Given the description of an element on the screen output the (x, y) to click on. 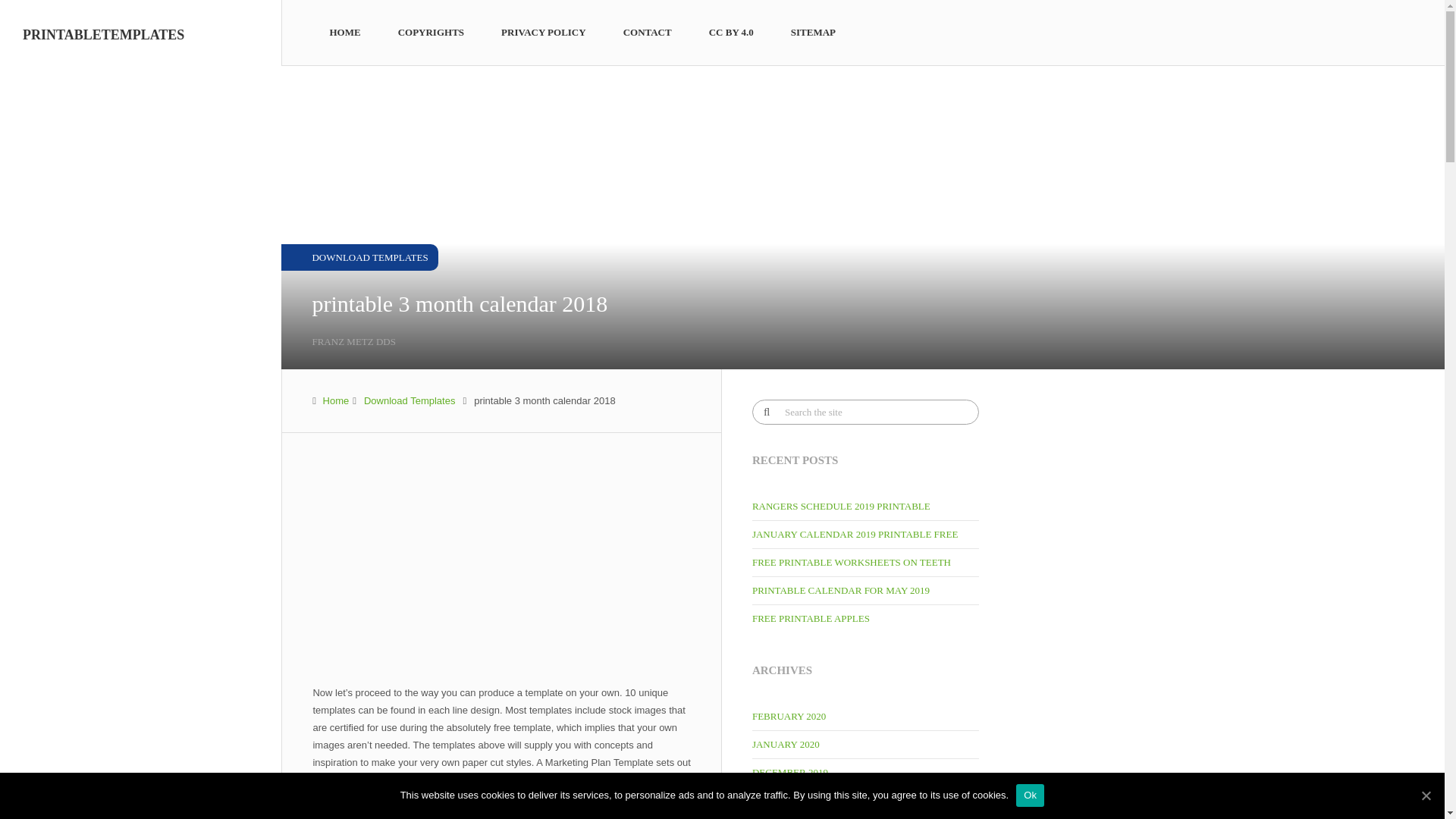
CC BY 4.0 (731, 32)
COPYRIGHTS (430, 32)
SITEMAP (812, 32)
Home (336, 400)
Advertisement (501, 572)
HOME (345, 32)
Download Templates (409, 400)
PRIVACY POLICY (543, 32)
CONTACT (647, 32)
PRINTABLETEMPLATES (103, 34)
